Given the description of an element on the screen output the (x, y) to click on. 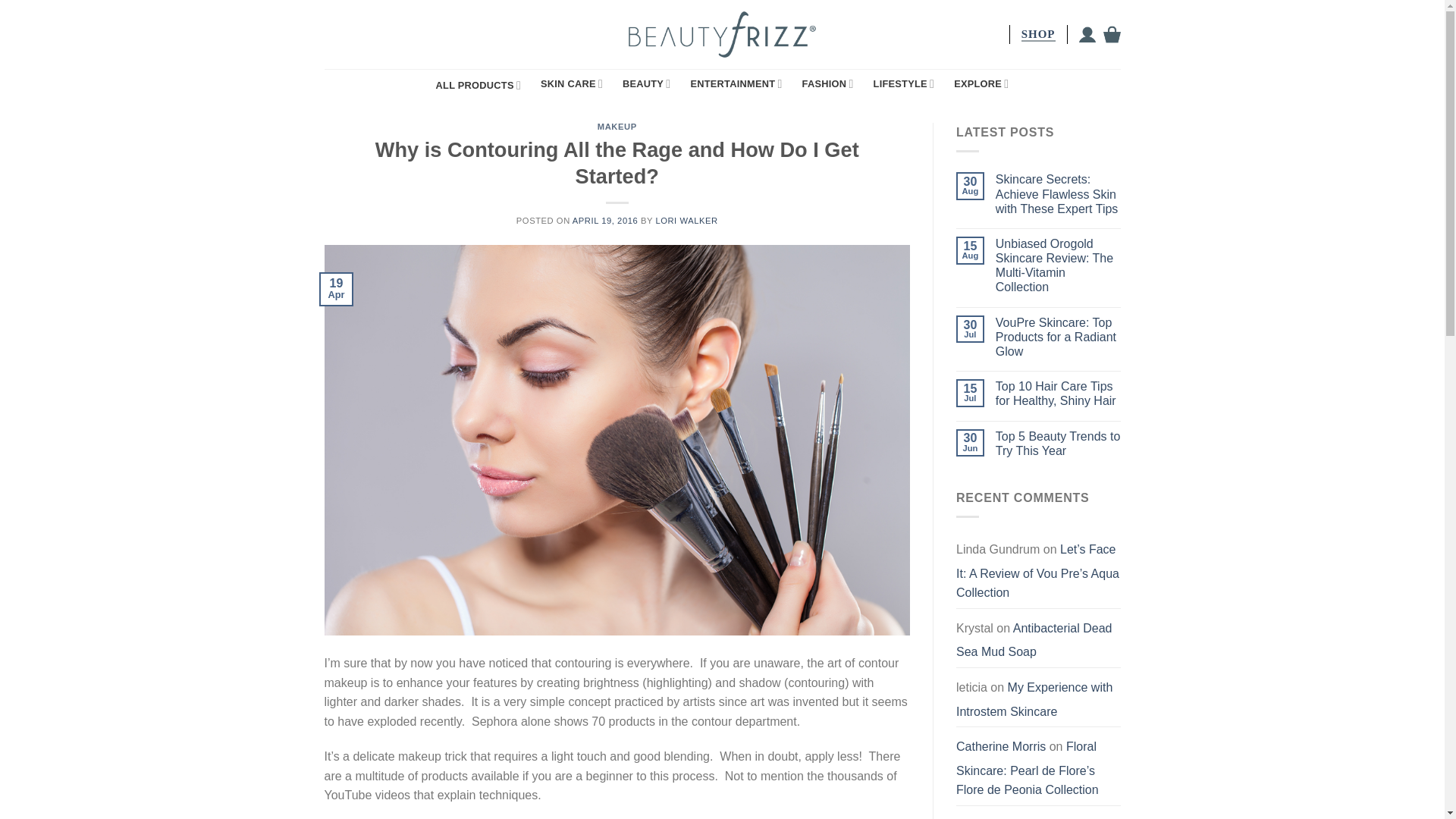
BeautyFrizz (721, 33)
ALL PRODUCTS (478, 84)
Top 10 Hair Care Tips for Healthy, Shiny Hair (1058, 393)
ENTERTAINMENT (735, 83)
EXPLORE (981, 83)
VouPre Skincare: Top Products for a Radiant Glow (1058, 337)
FASHION (827, 83)
SKIN CARE (571, 83)
BEAUTY (646, 83)
